Given the description of an element on the screen output the (x, y) to click on. 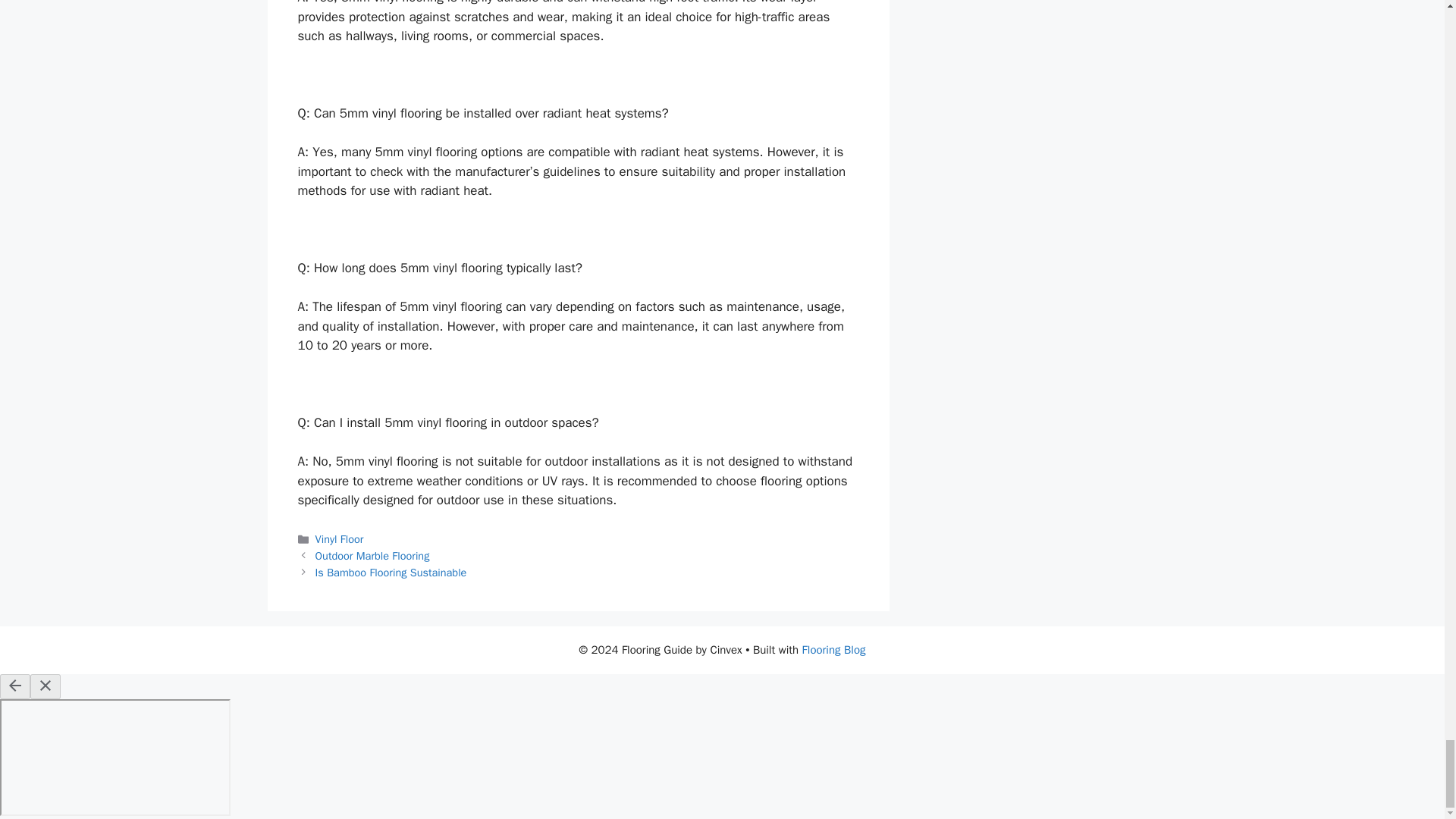
Vinyl Floor (339, 539)
Is Bamboo Flooring Sustainable (391, 572)
Outdoor Marble Flooring (372, 555)
